Given the description of an element on the screen output the (x, y) to click on. 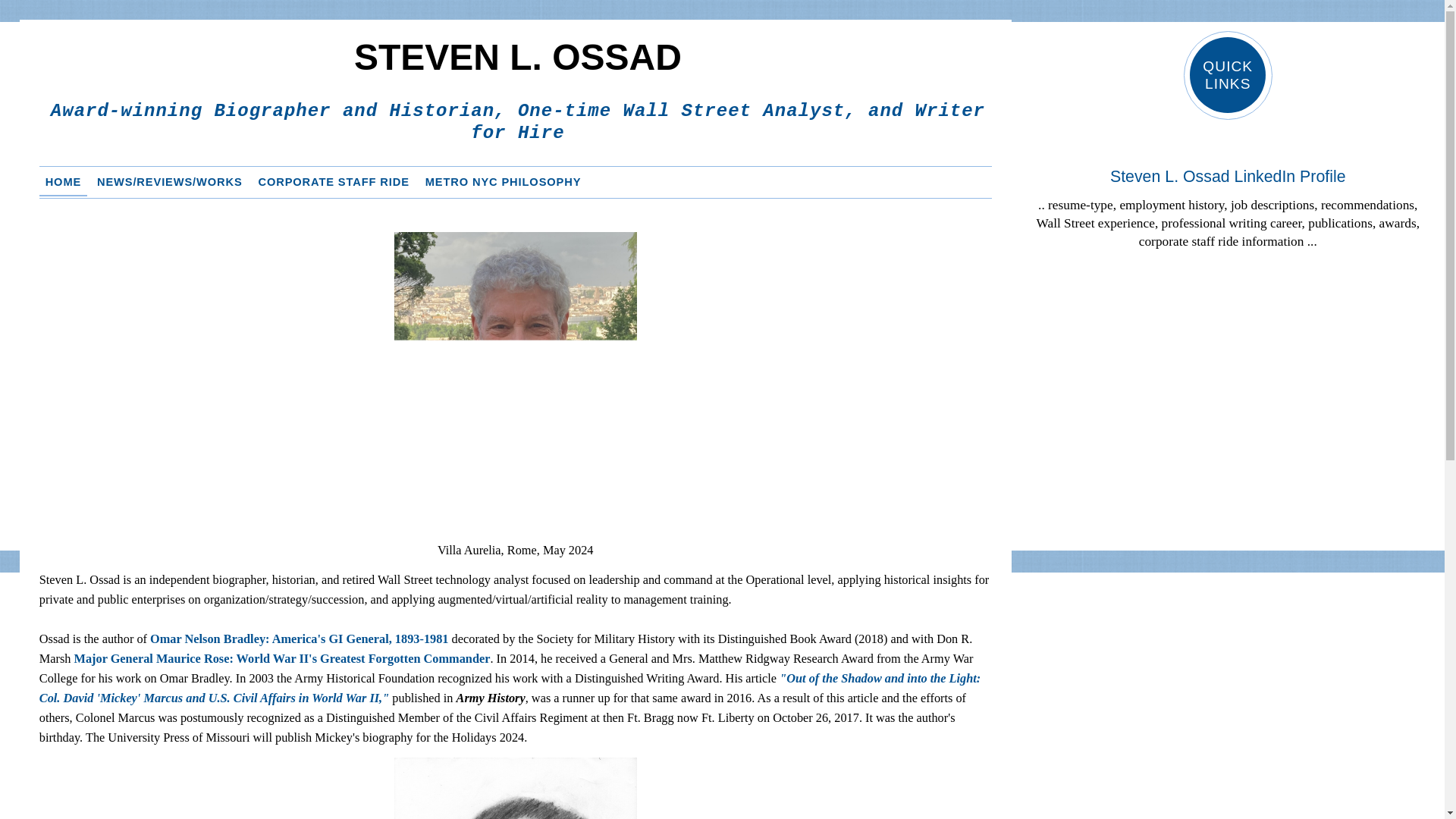
METRO NYC PHILOSOPHY (503, 181)
Omar Nelson Bradley: America's GI General, 1893-1981 (298, 638)
HOME (63, 181)
CORPORATE STAFF RIDE (332, 181)
Steven L. Ossad LinkedIn Profile (1227, 176)
